Given the description of an element on the screen output the (x, y) to click on. 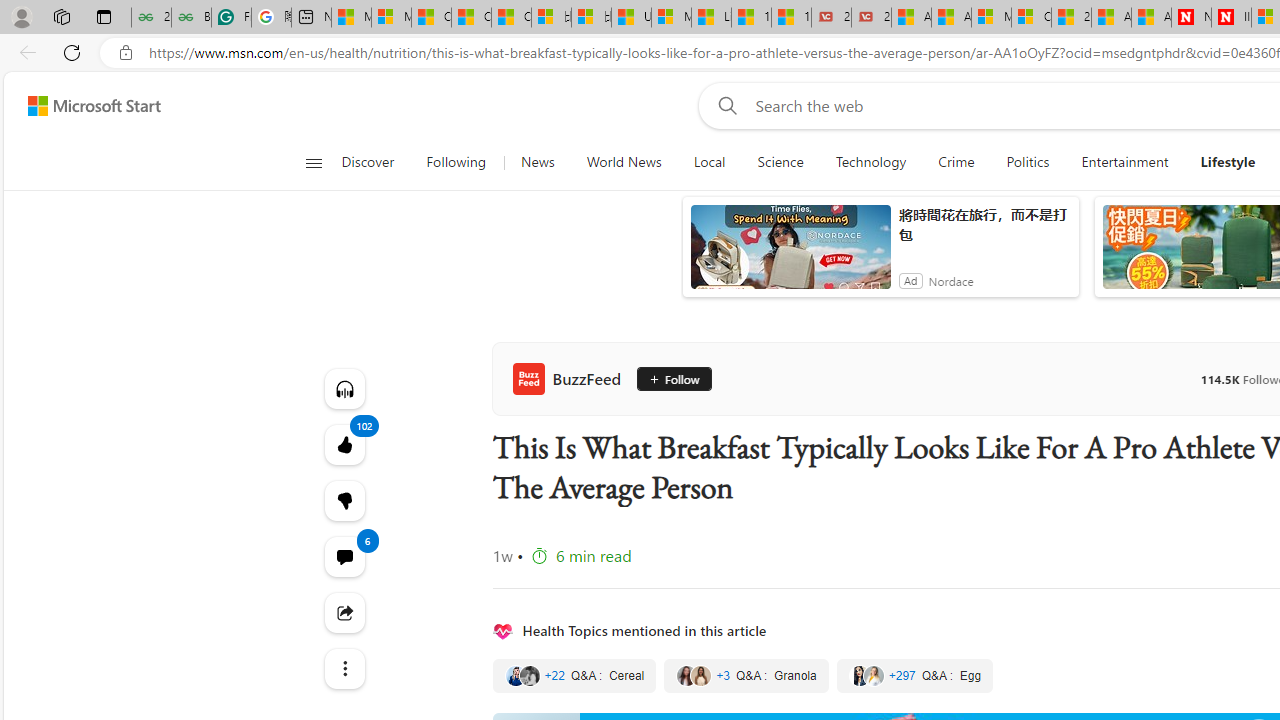
View comments 6 Comment (343, 556)
Granola (746, 675)
Class: at-item (343, 668)
Cloud Computing Services | Microsoft Azure (1031, 17)
Lifestyle - MSN (711, 17)
20 Ways to Boost Your Protein Intake at Every Meal (1071, 17)
102 (343, 500)
